Given the description of an element on the screen output the (x, y) to click on. 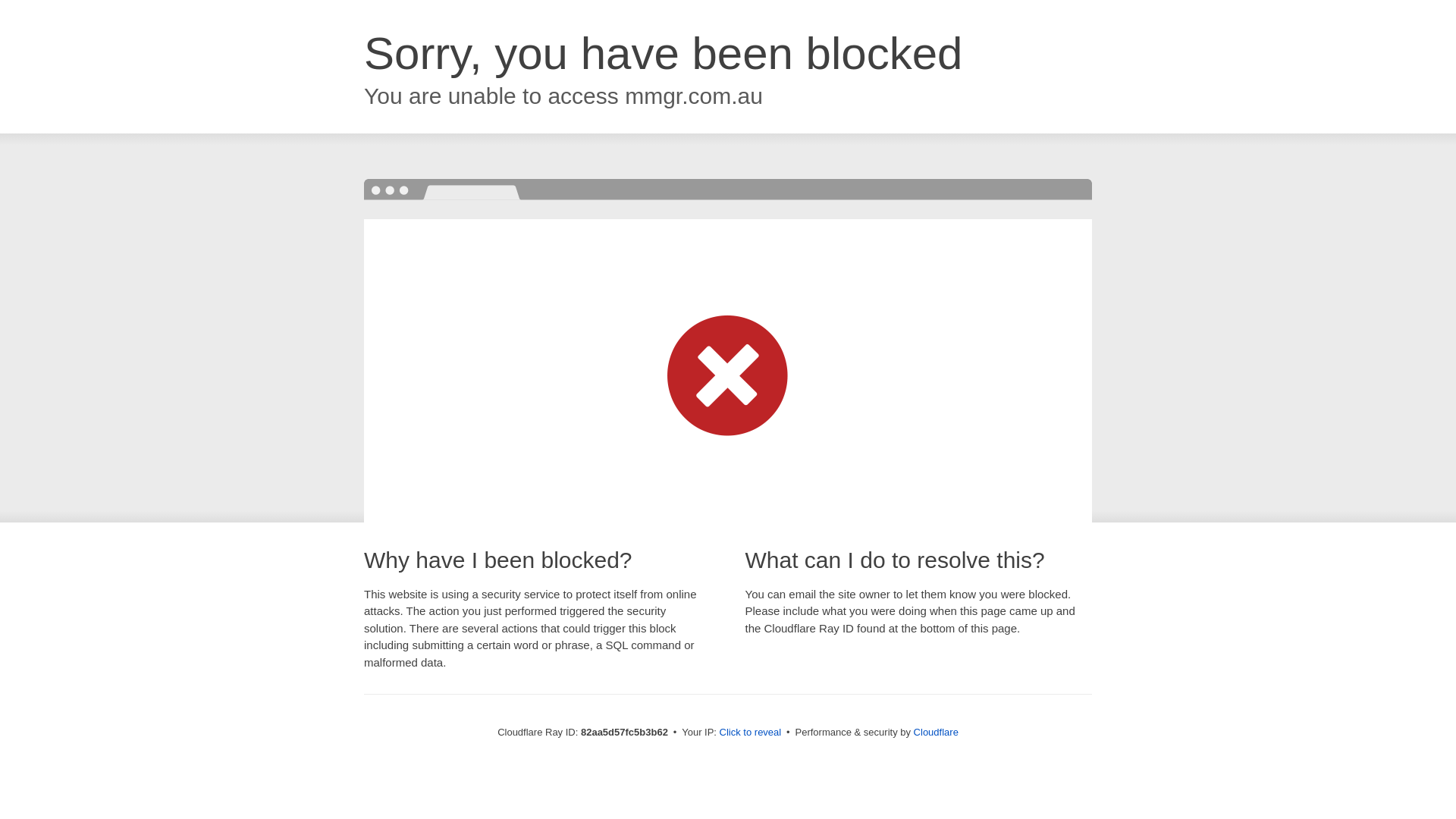
Cloudflare Element type: text (935, 731)
Click to reveal Element type: text (750, 732)
